Given the description of an element on the screen output the (x, y) to click on. 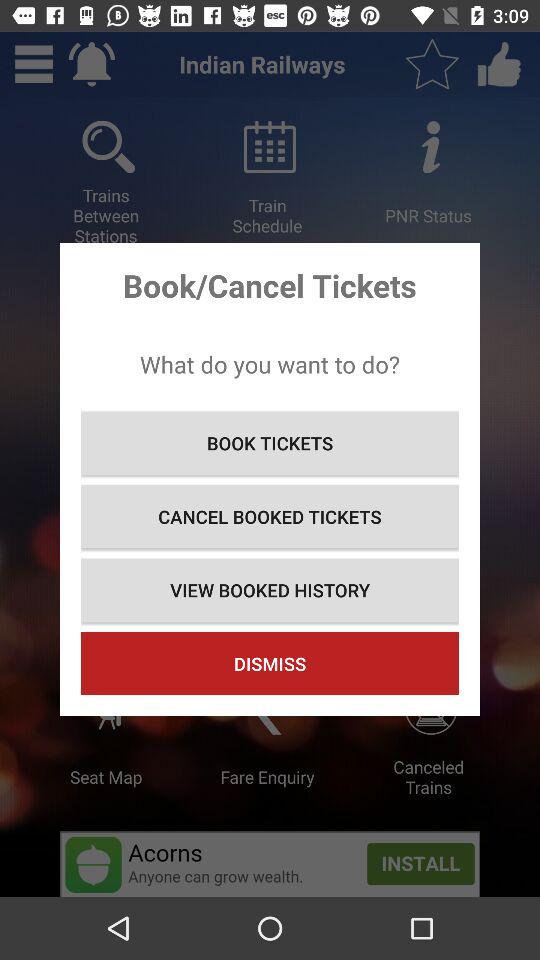
turn off view booked history icon (270, 589)
